Given the description of an element on the screen output the (x, y) to click on. 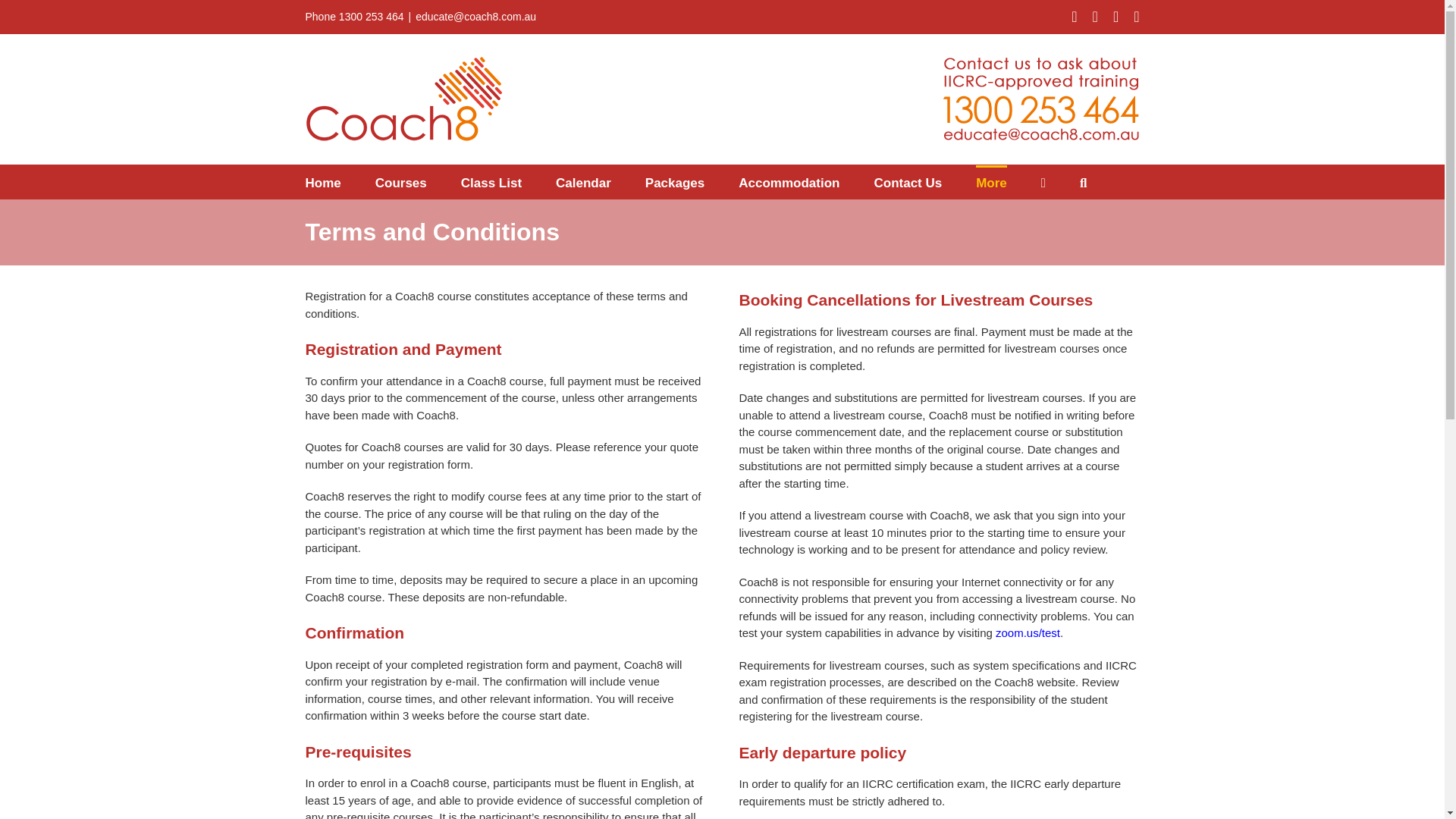
Class List (491, 182)
Accommodation (789, 182)
Home (322, 182)
More (991, 182)
Courses (400, 182)
Contact Us (907, 182)
Calendar (583, 182)
Packages (674, 182)
